Given the description of an element on the screen output the (x, y) to click on. 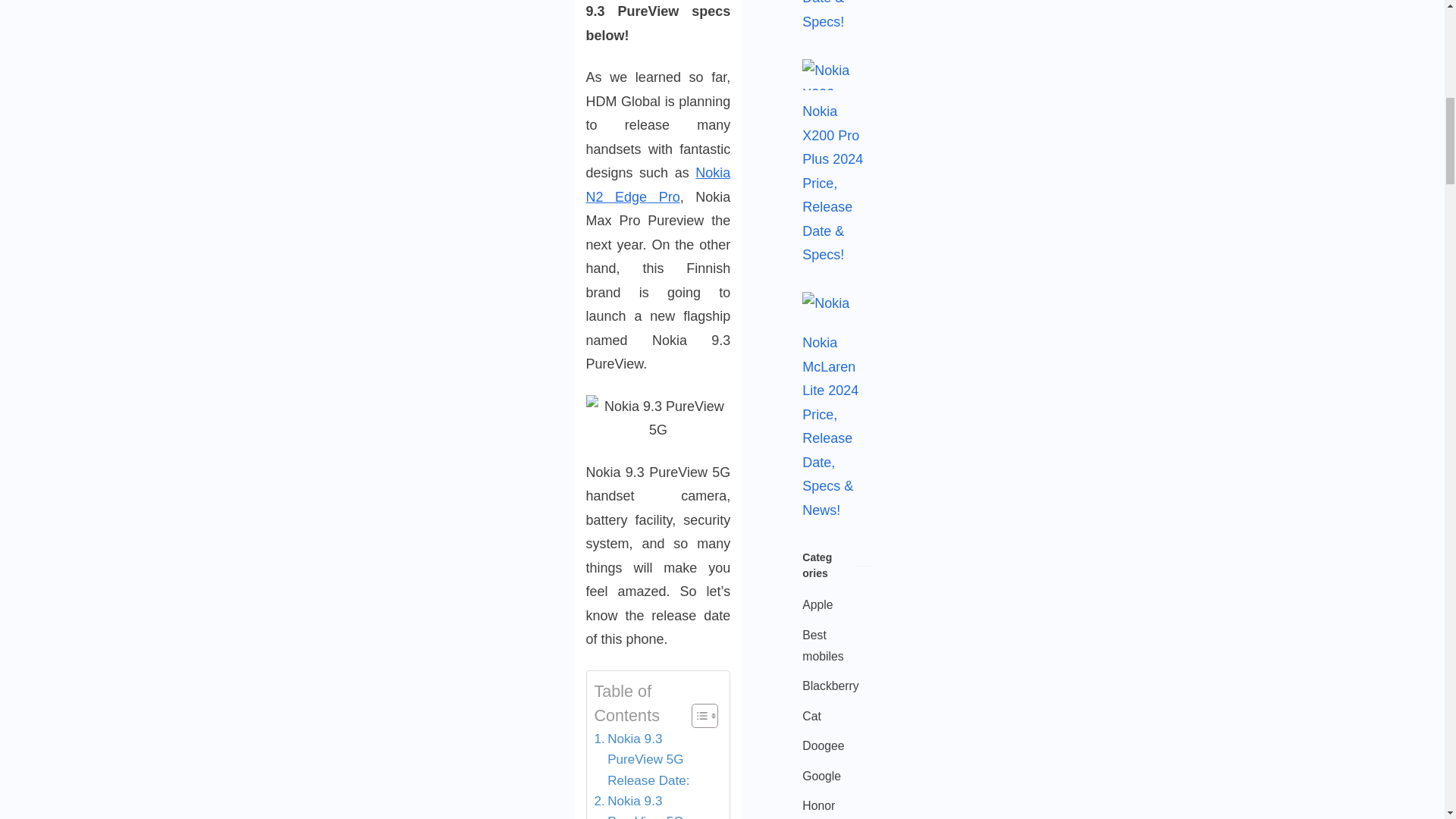
Nokia 9.3 PureView 5G Release Date: (654, 759)
Nokia N2 Edge Pro (657, 184)
Nokia 9.3 PureView 5G Specifications: (654, 805)
Nokia 9.3 PureView 5G Specifications: (654, 805)
Nokia 9.3 PureView 5G Release Date: (654, 759)
